Given the description of an element on the screen output the (x, y) to click on. 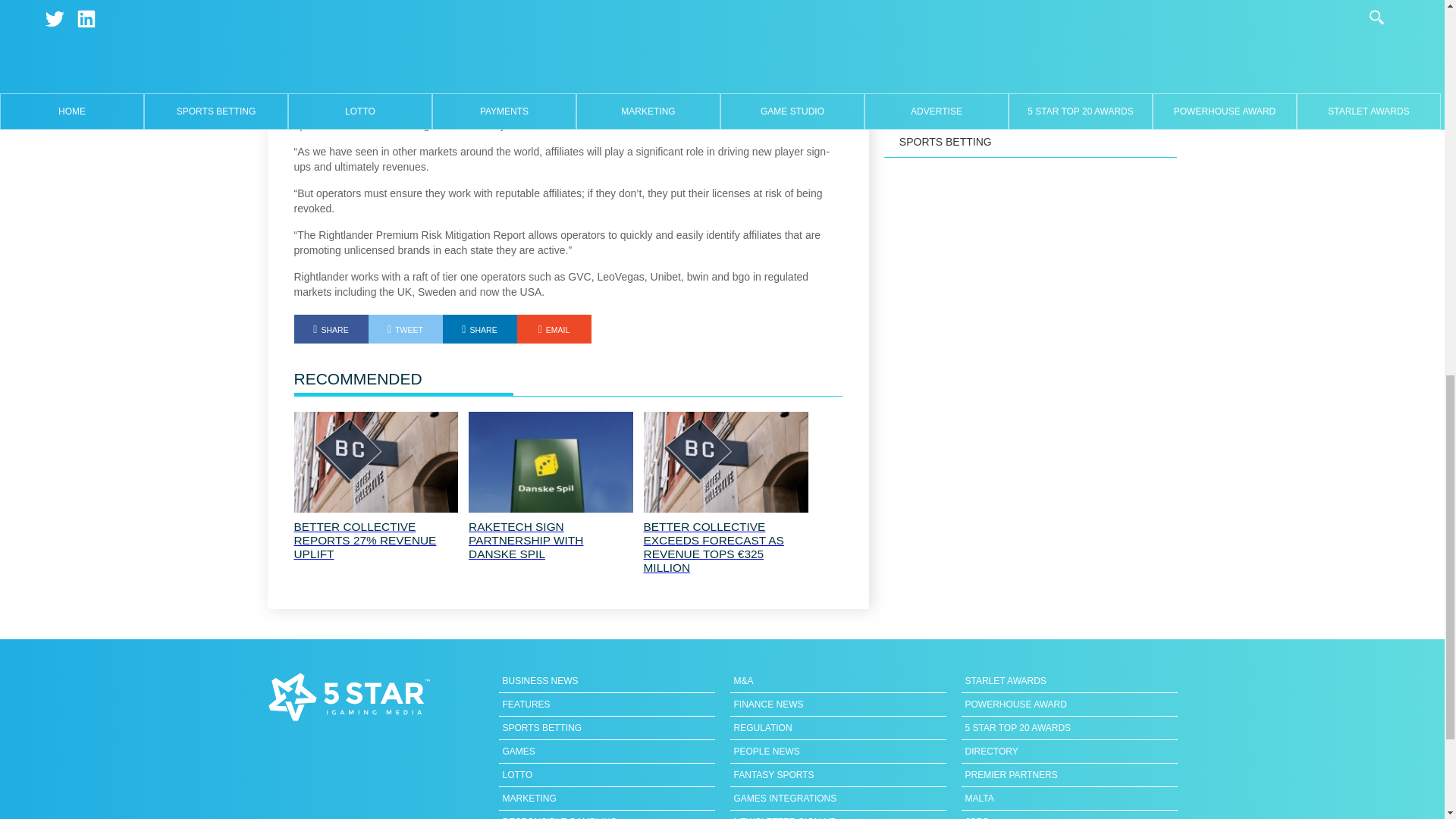
SHARE (479, 328)
Linkedin (479, 328)
TWEET (405, 328)
RAKETECH SIGN PARTNERSHIP WITH DANSKE SPIL (550, 540)
Twitter (405, 328)
EMAIL (553, 328)
SHARE (331, 328)
Mail (553, 328)
Facebook (331, 328)
